Given the description of an element on the screen output the (x, y) to click on. 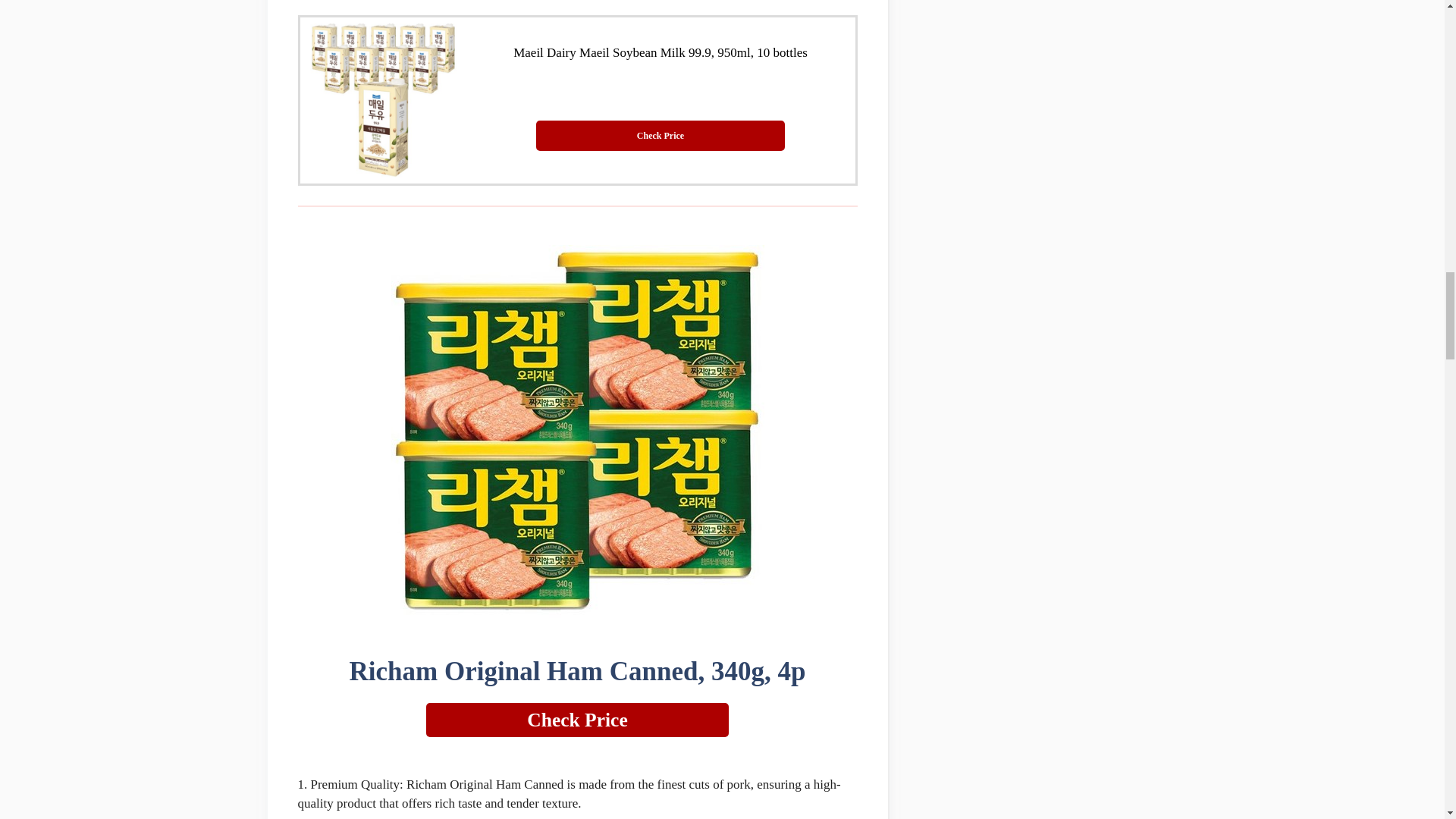
Check Price (659, 135)
Check Price (577, 719)
Maeil Dairy Maeil Soybean Milk 99.9, 950ml, 10 bottles (660, 52)
